Given the description of an element on the screen output the (x, y) to click on. 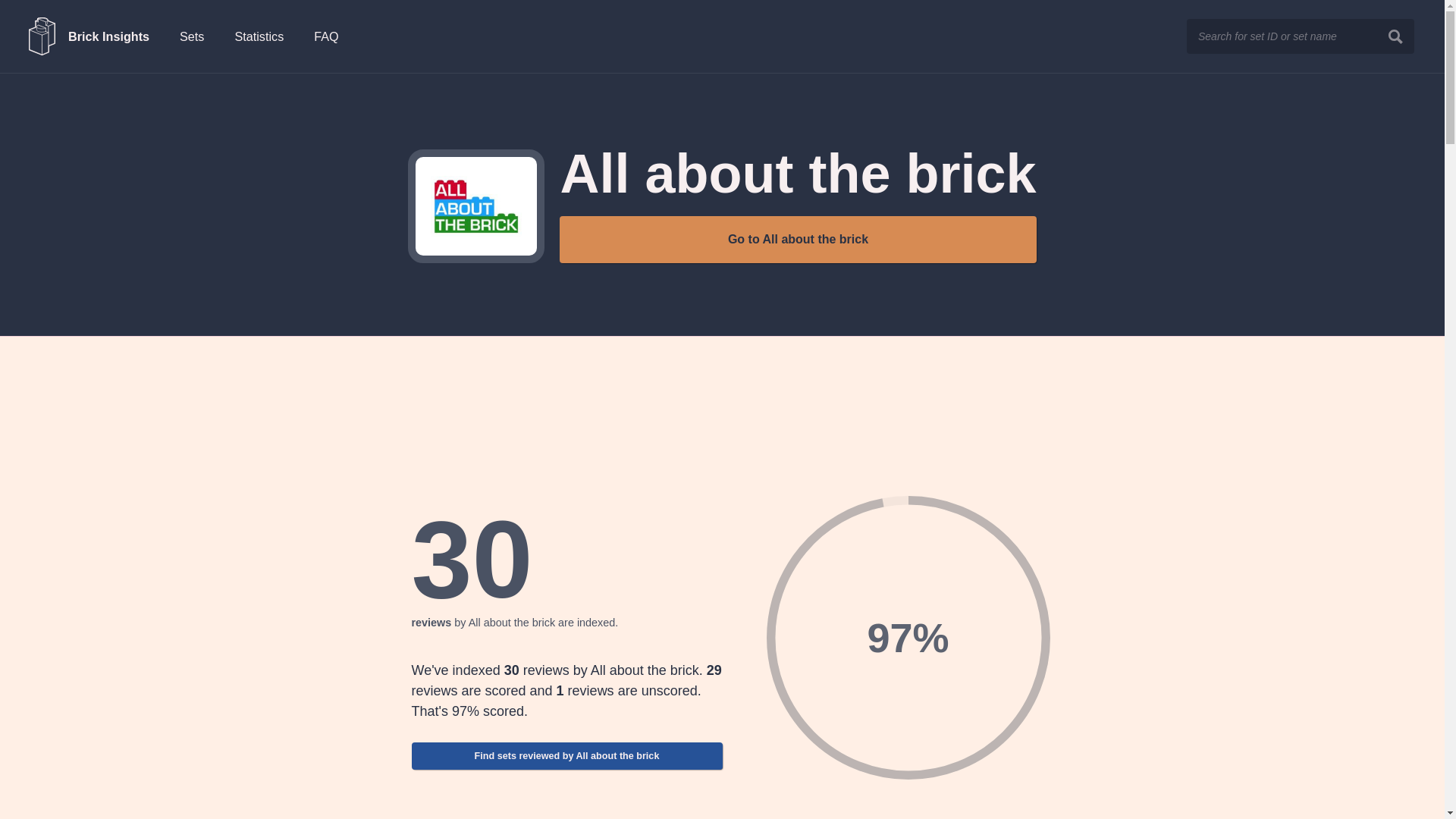
Statistics (258, 36)
Find sets reviewed by All about the brick (566, 755)
Search (1395, 36)
Brick Insights (89, 36)
Go to All about the brick (797, 239)
